Given the description of an element on the screen output the (x, y) to click on. 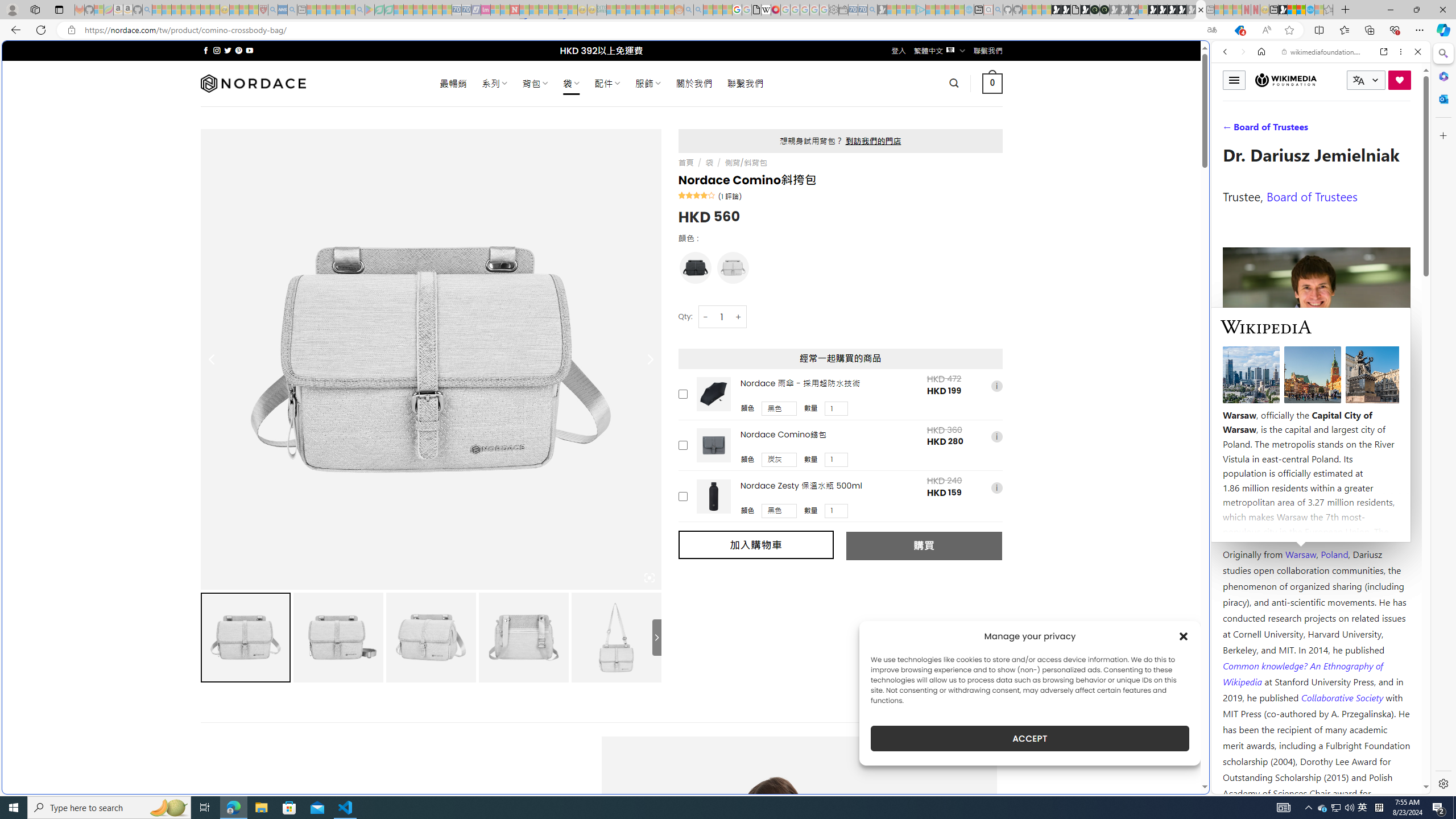
wikimediafoundation.org (1323, 51)
Follow on Twitter (227, 50)
